Given the description of an element on the screen output the (x, y) to click on. 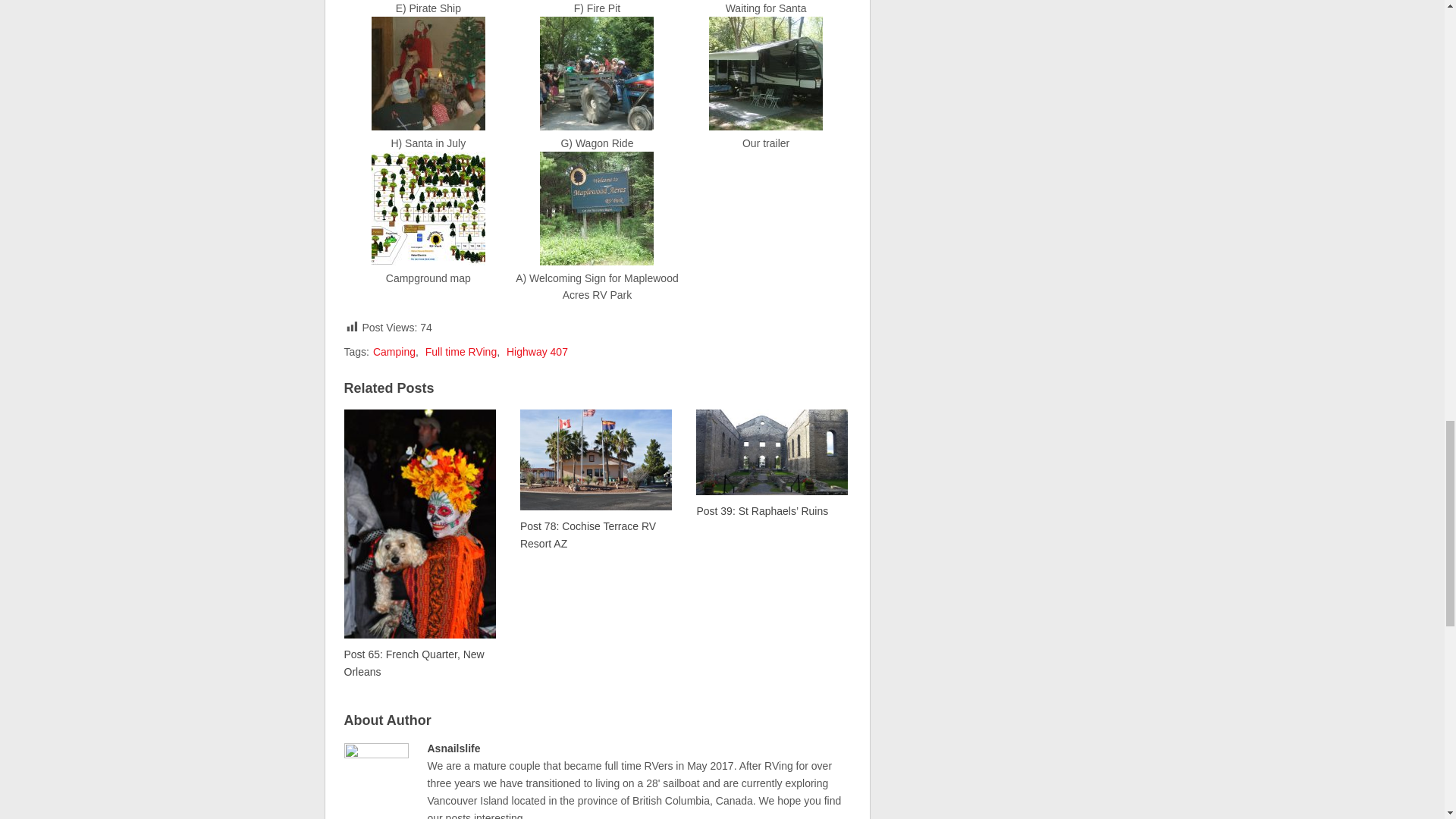
Camping (393, 351)
Post 78: Cochise Terrace RV Resort AZ (595, 478)
Highway 407 (536, 351)
Full time RVing (460, 351)
Post 78: Cochise Terrace RV Resort AZ (595, 478)
